Given the description of an element on the screen output the (x, y) to click on. 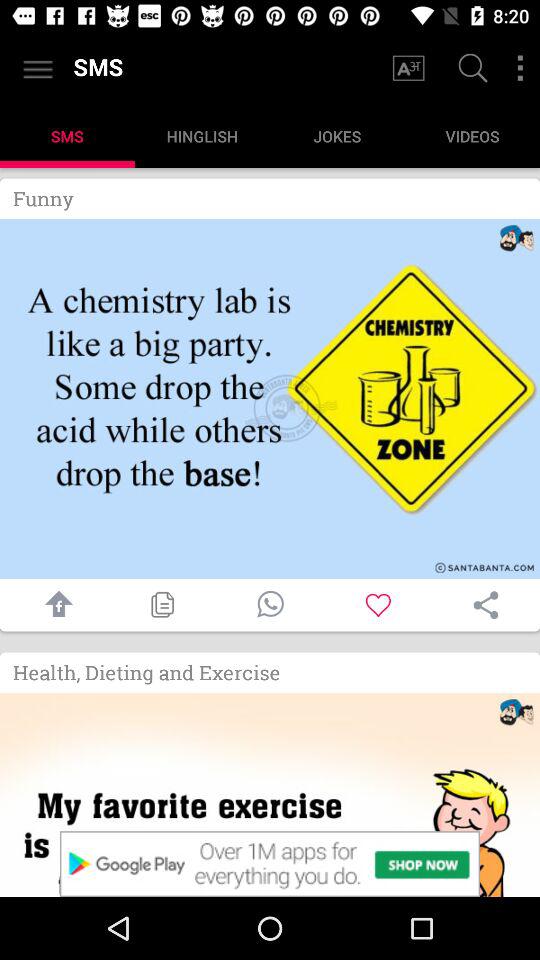
see advertisement (270, 864)
